Given the description of an element on the screen output the (x, y) to click on. 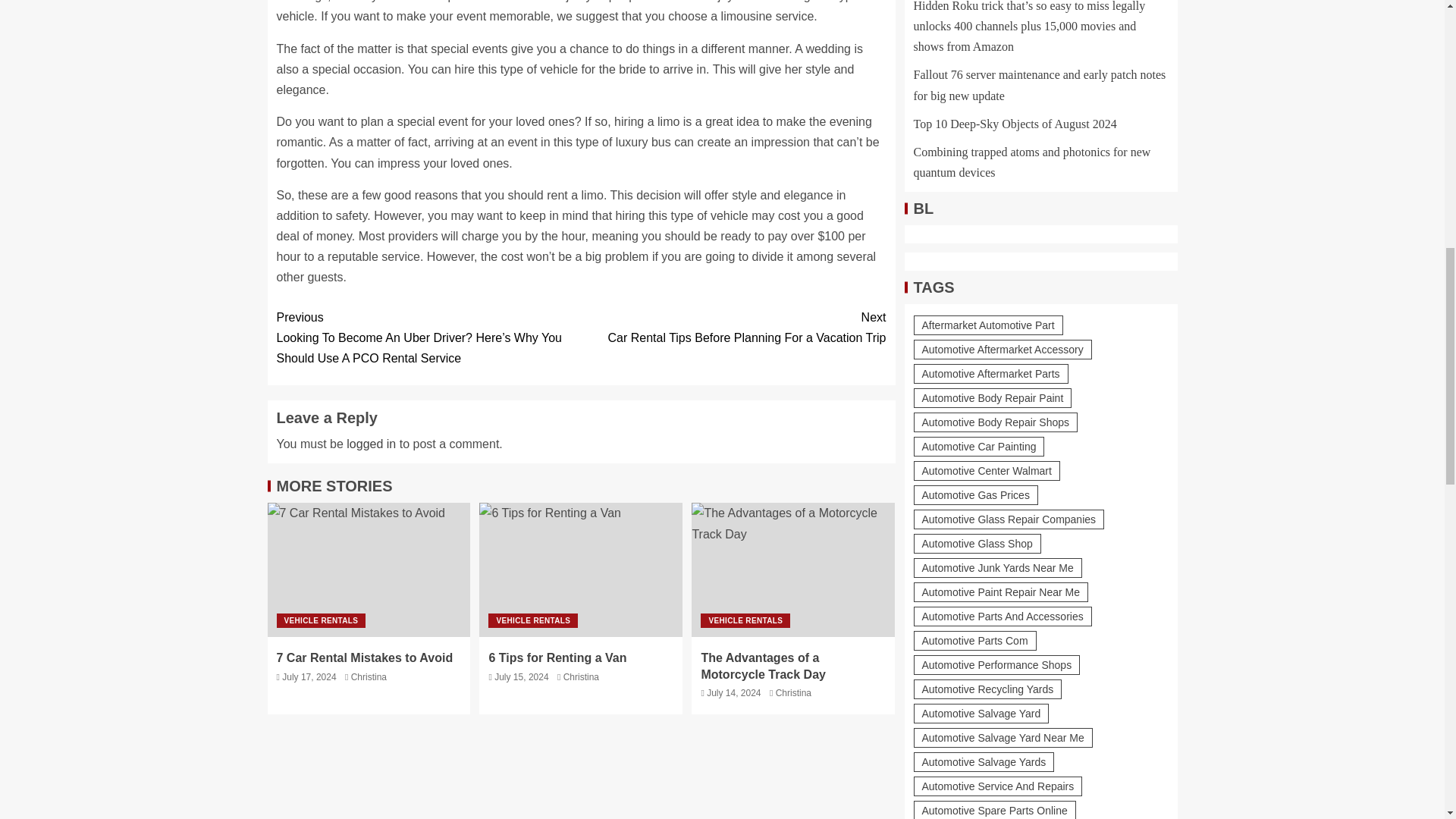
The Advantages of a Motorcycle Track Day (762, 665)
VEHICLE RENTALS (532, 620)
Christina (580, 676)
logged in (371, 443)
6 Tips for Renting a Van (580, 569)
Christina (368, 676)
6 Tips for Renting a Van (556, 657)
VEHICLE RENTALS (320, 620)
The Advantages of a Motorcycle Track Day (793, 569)
VEHICLE RENTALS (745, 620)
7 Car Rental Mistakes to Avoid (364, 657)
Christina (793, 692)
7 Car Rental Mistakes to Avoid (732, 327)
